Given the description of an element on the screen output the (x, y) to click on. 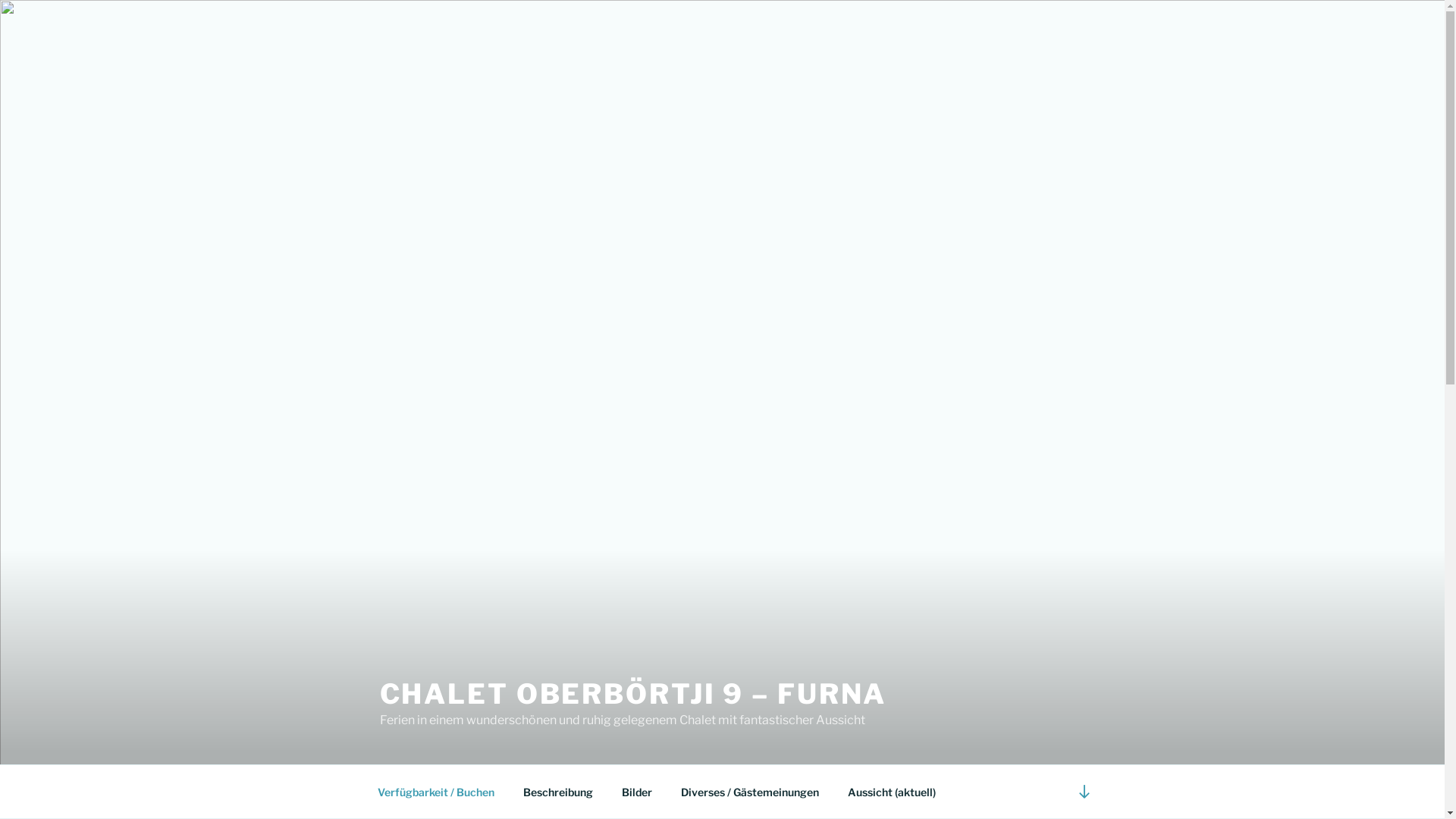
Bilder Element type: text (636, 791)
Zum Inhalt nach unten scrollen Element type: text (1083, 790)
Aussicht (aktuell) Element type: text (891, 791)
Beschreibung Element type: text (557, 791)
